Given the description of an element on the screen output the (x, y) to click on. 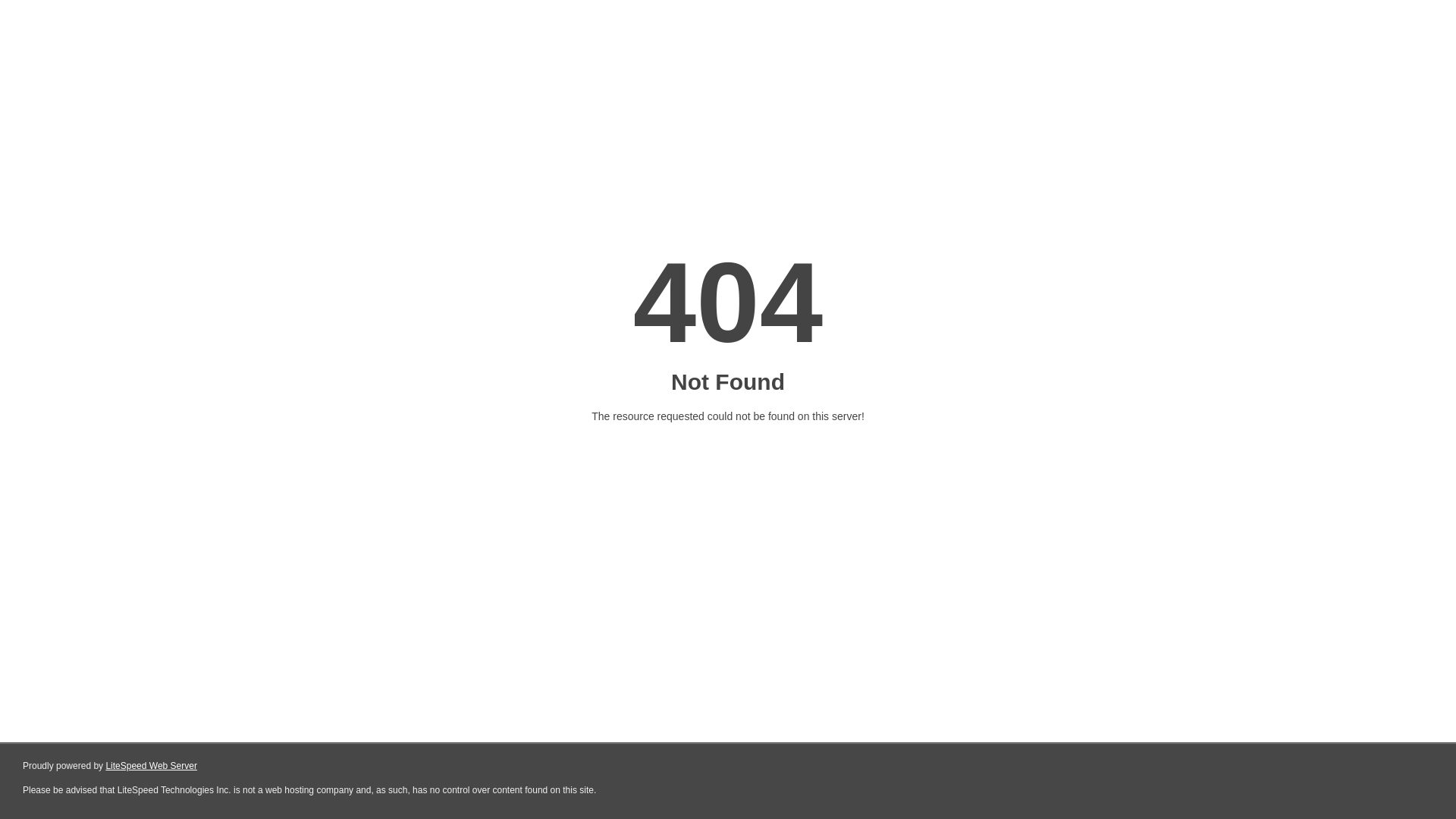
LiteSpeed Web Server Element type: text (151, 765)
